Given the description of an element on the screen output the (x, y) to click on. 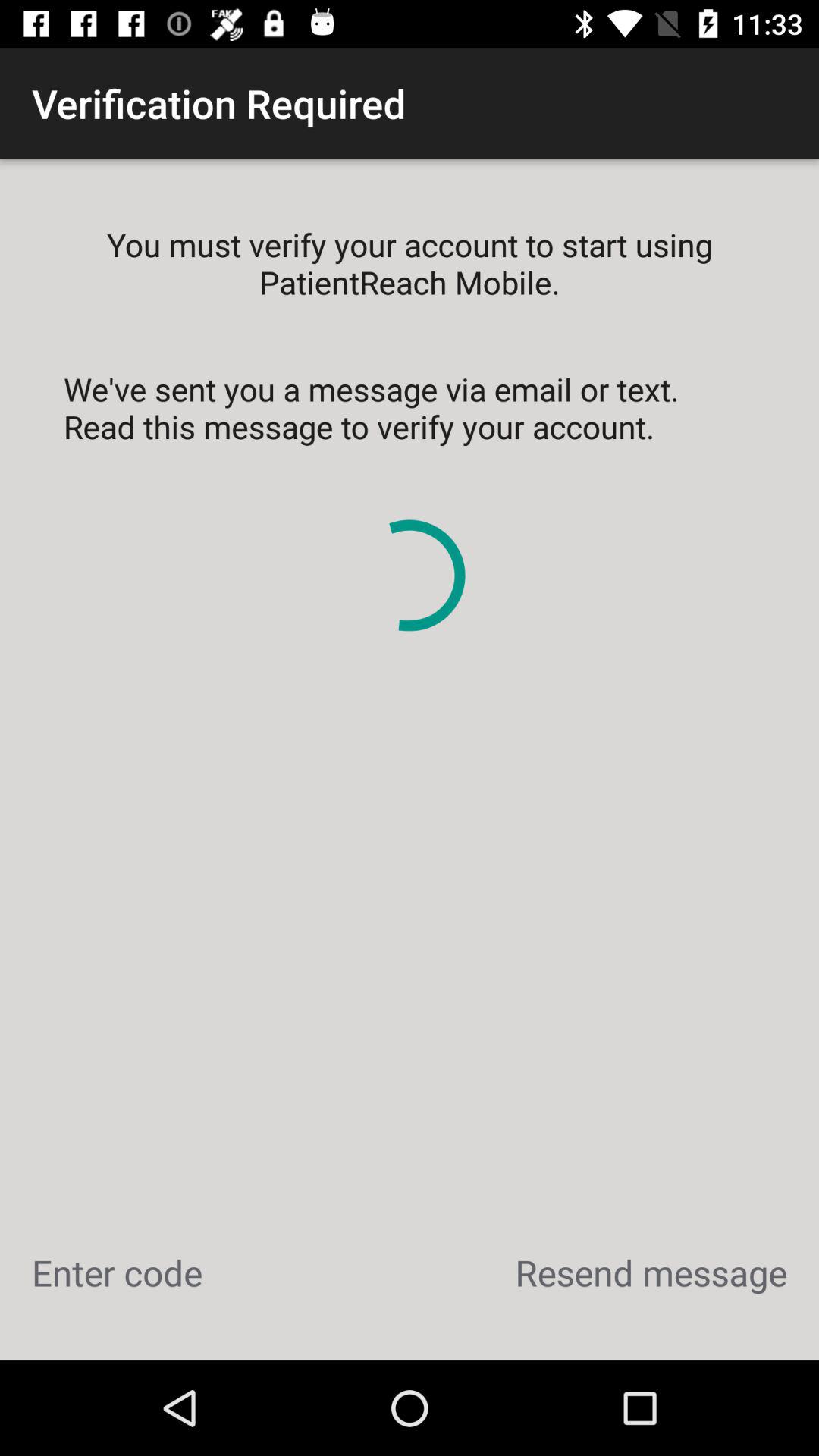
press the icon next to resend message item (116, 1272)
